Given the description of an element on the screen output the (x, y) to click on. 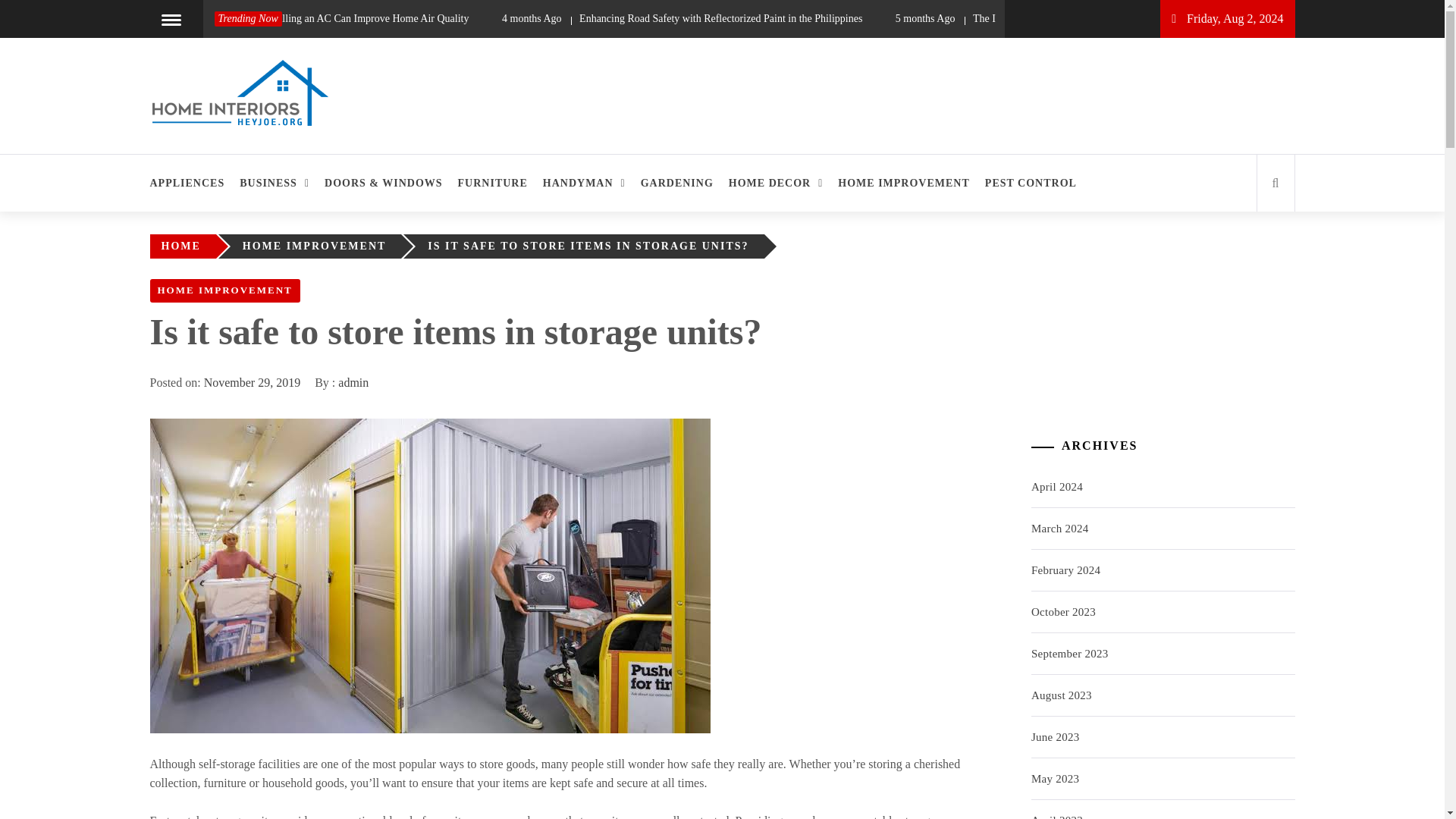
APPLIENCES (190, 182)
November 29, 2019 (252, 382)
HOME IMPROVEMENT (224, 290)
IS IT SAFE TO STORE ITEMS IN STORAGE UNITS? (591, 245)
FURNITURE (492, 182)
PEST CONTROL (1030, 182)
Home Decor (227, 155)
GARDENING (676, 182)
HOME DECOR (775, 182)
